Given the description of an element on the screen output the (x, y) to click on. 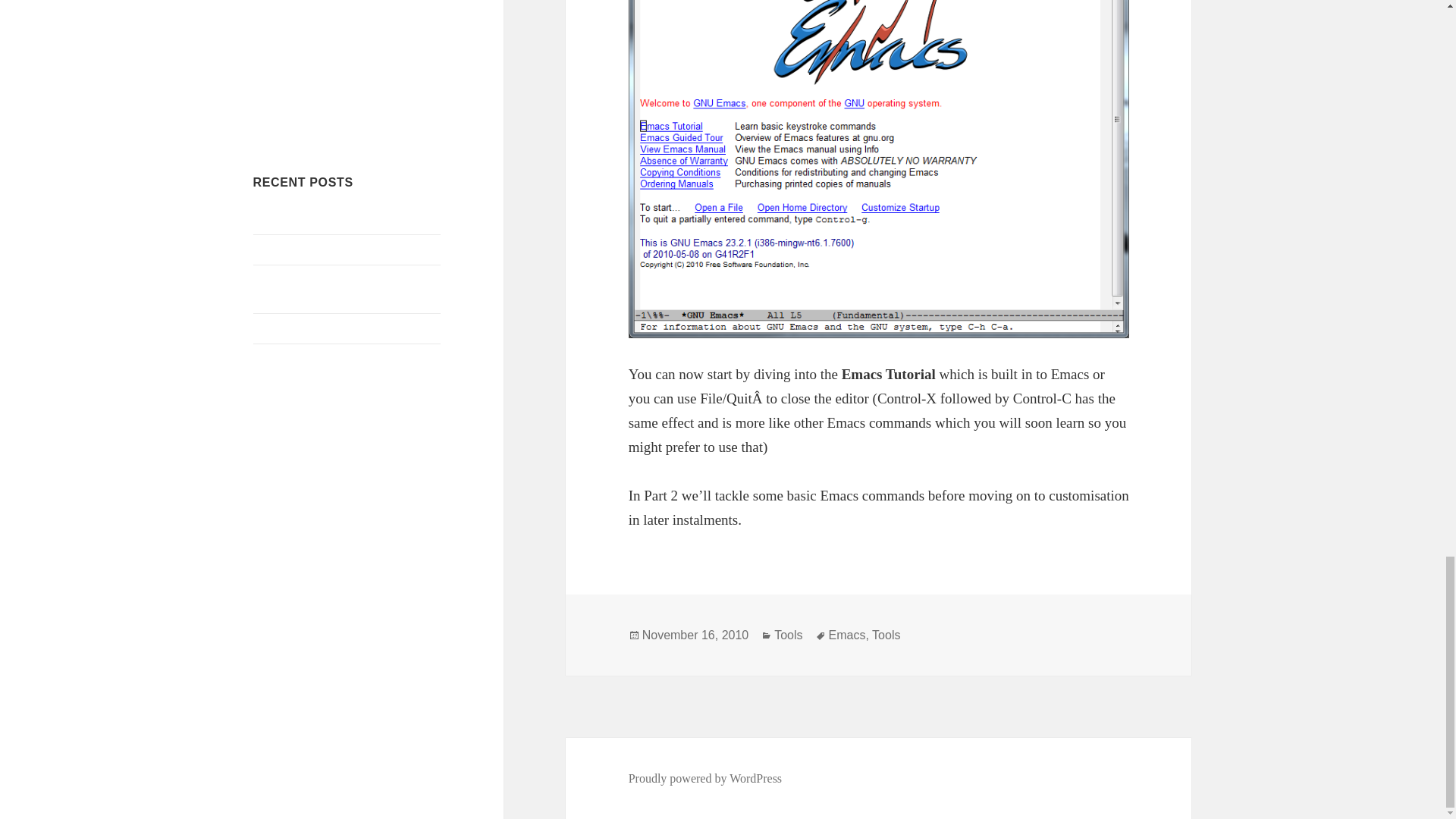
November 16, 2010 (695, 635)
Emacs (847, 635)
Proudly powered by WordPress (704, 778)
Tools (885, 635)
Tools (788, 635)
